Given the description of an element on the screen output the (x, y) to click on. 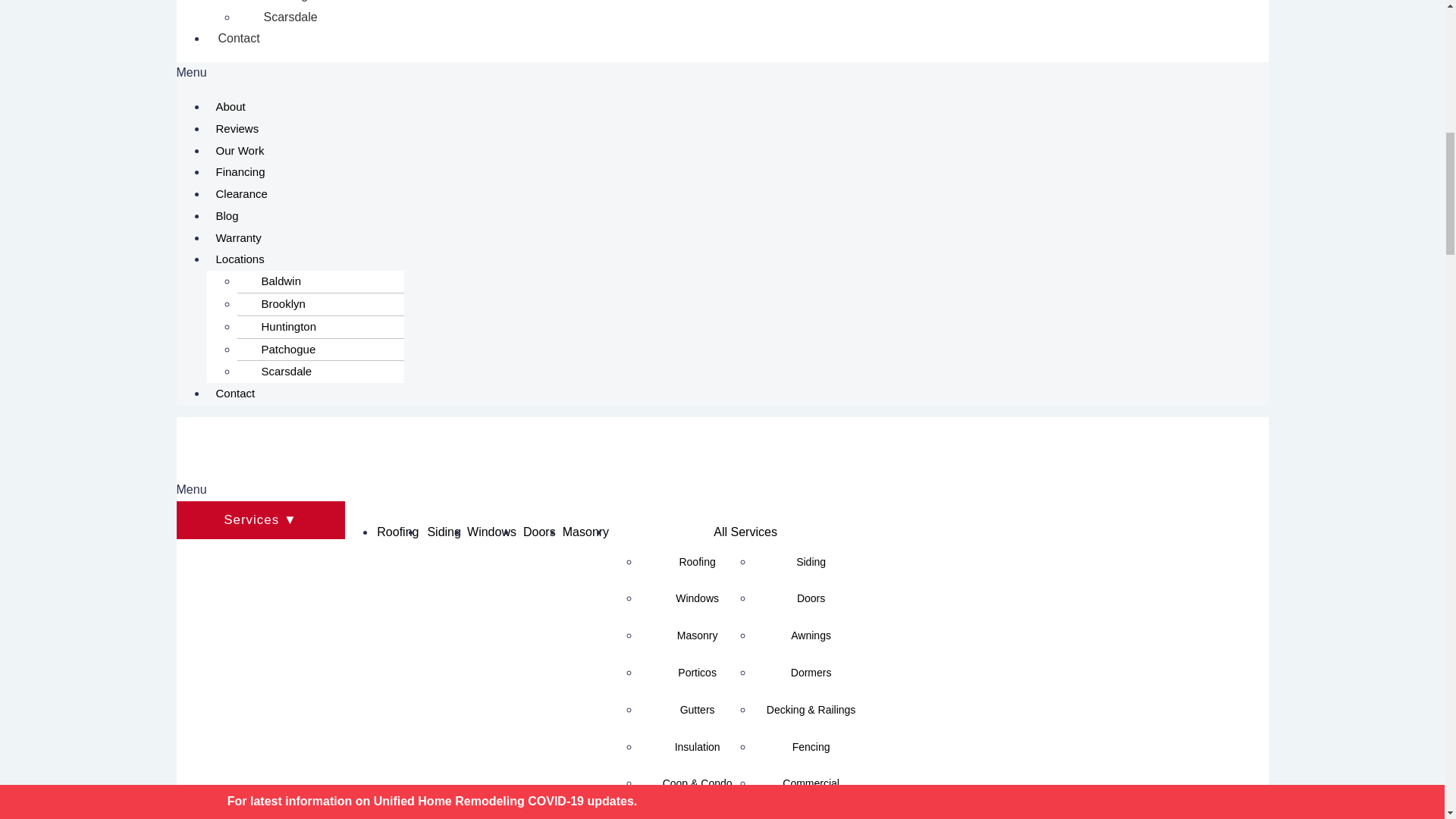
About (229, 106)
Contact (238, 38)
Patchogue (284, 6)
Scarsdale (282, 17)
